Given the description of an element on the screen output the (x, y) to click on. 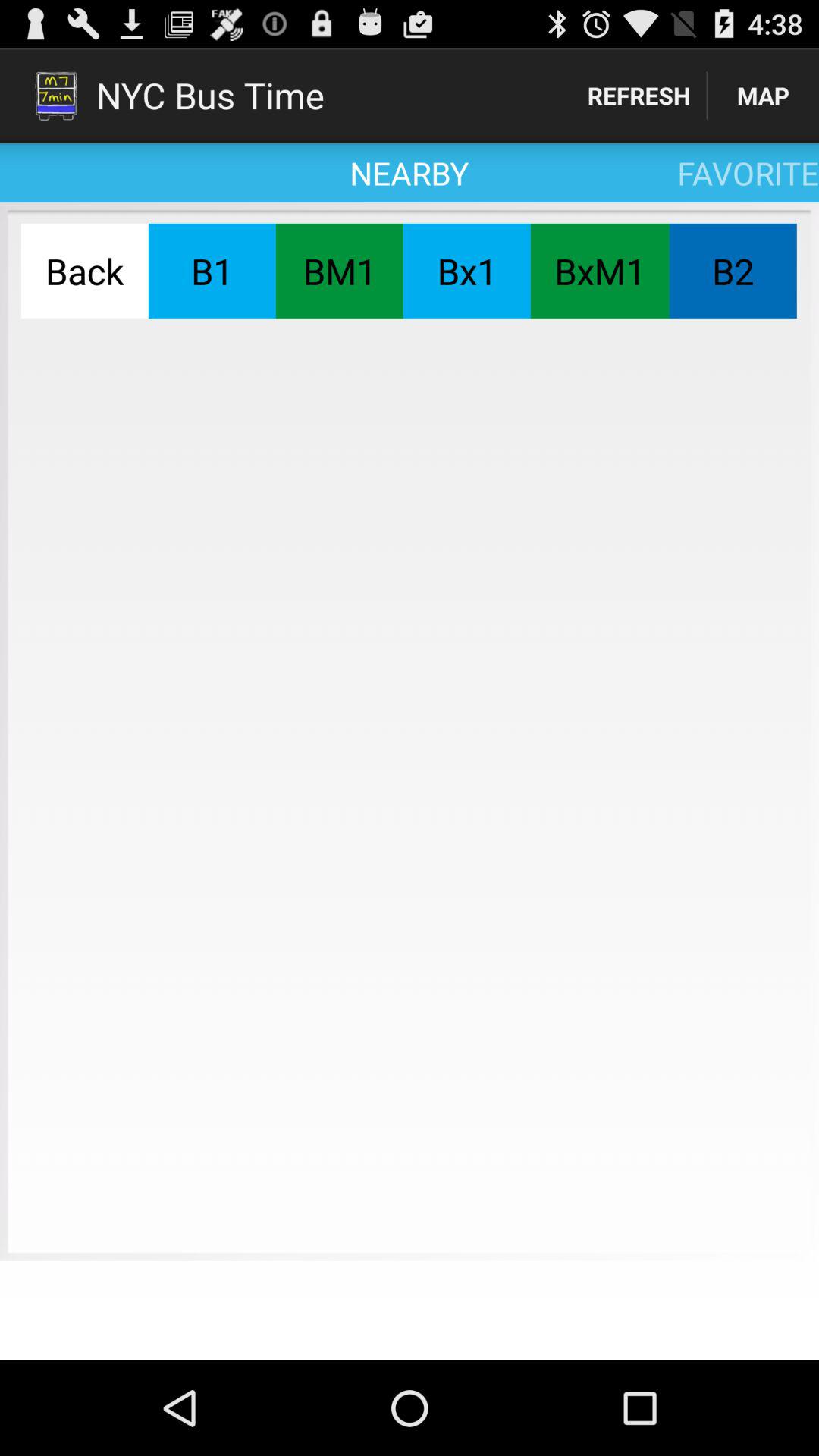
swipe to the b2 icon (732, 271)
